Given the description of an element on the screen output the (x, y) to click on. 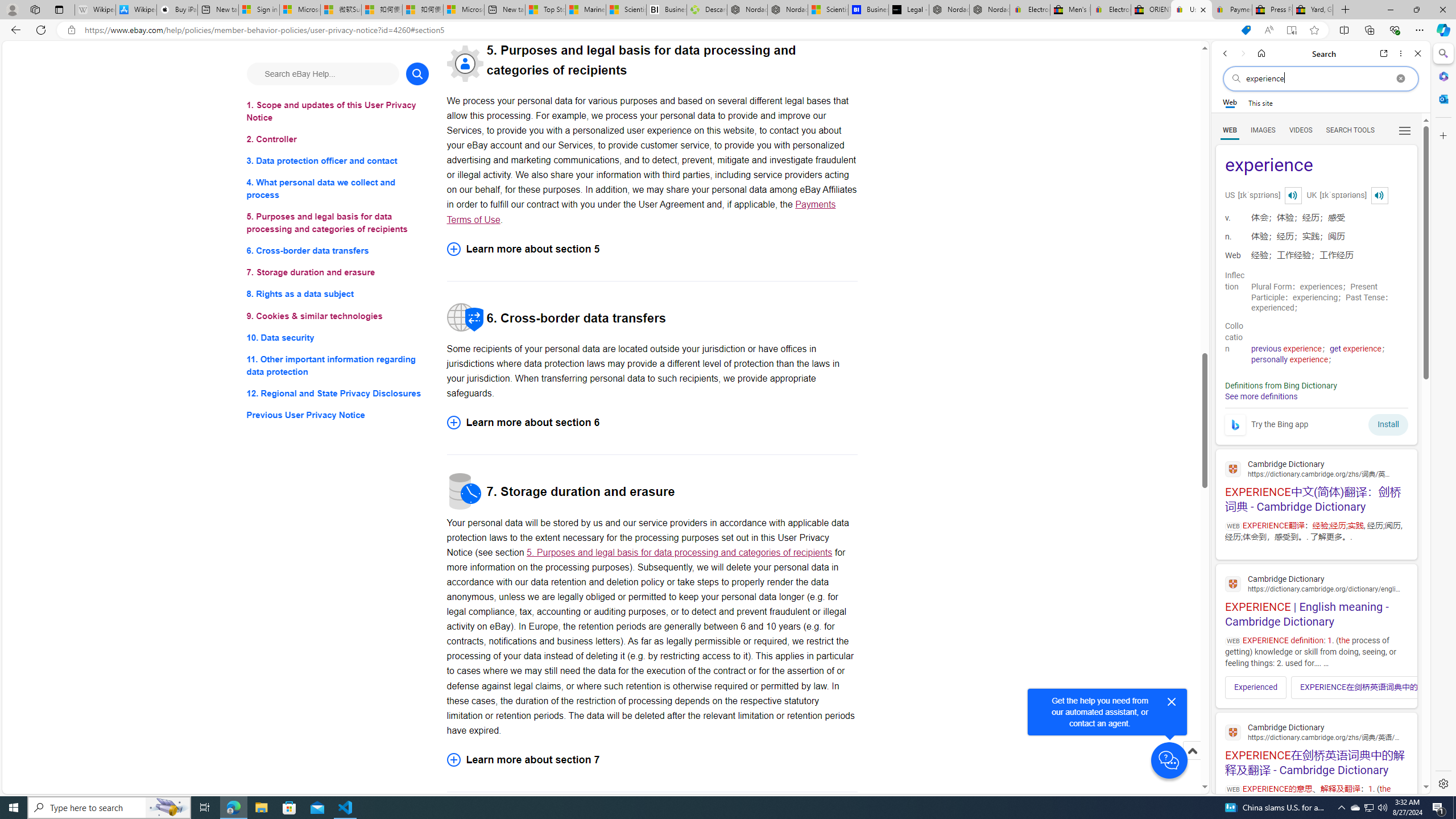
Learn more about section 7 (651, 759)
11. Other important information regarding data protection (337, 365)
get experience (1355, 348)
2. Controller (337, 138)
Click to scroll right (1400, 687)
